Given the description of an element on the screen output the (x, y) to click on. 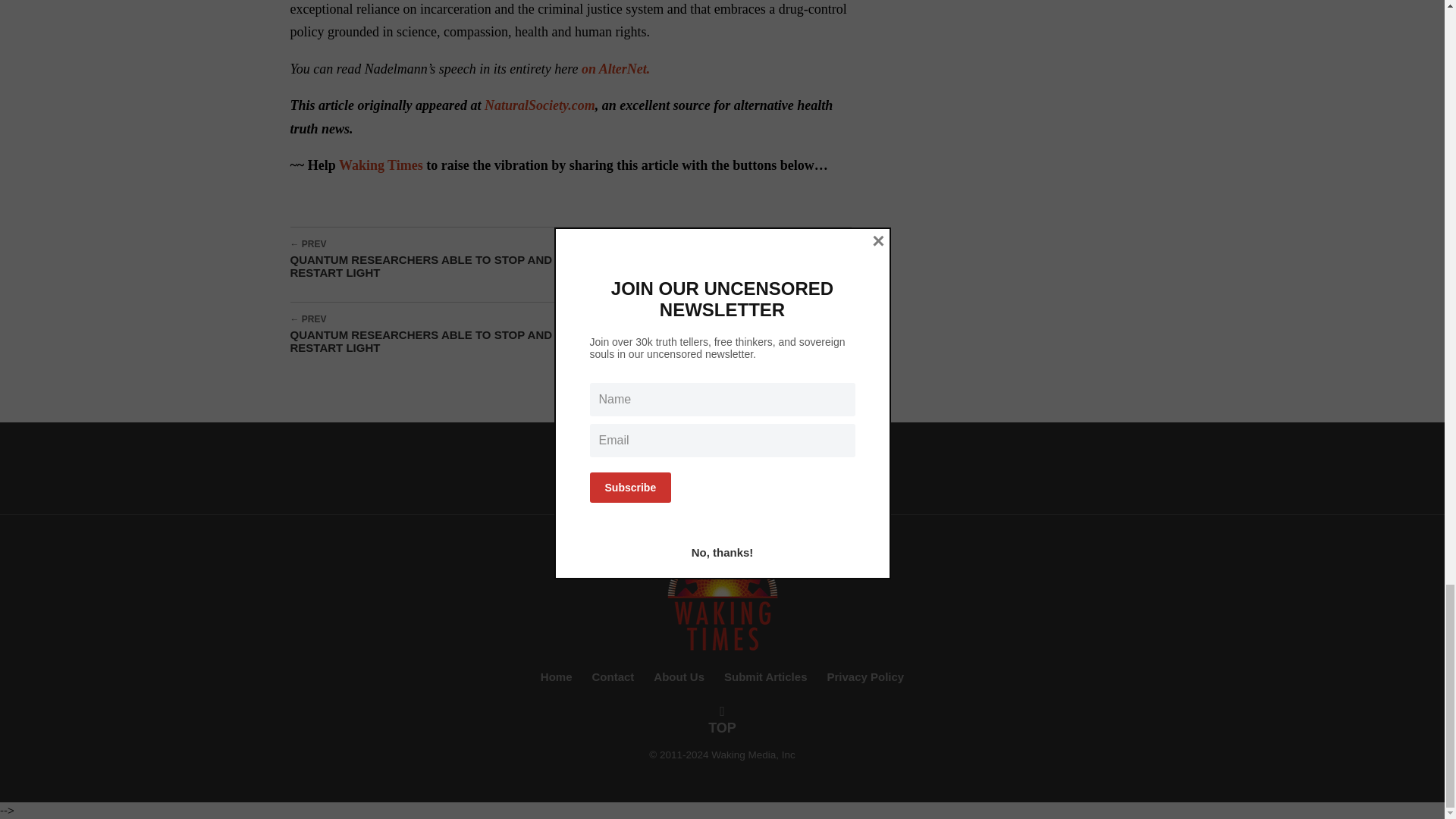
FACEBOOK (604, 466)
NaturalSociety.com (539, 105)
TWITTER (719, 466)
Waking Times (381, 165)
Waking Times (721, 595)
on AlterNet. (614, 68)
